Given the description of an element on the screen output the (x, y) to click on. 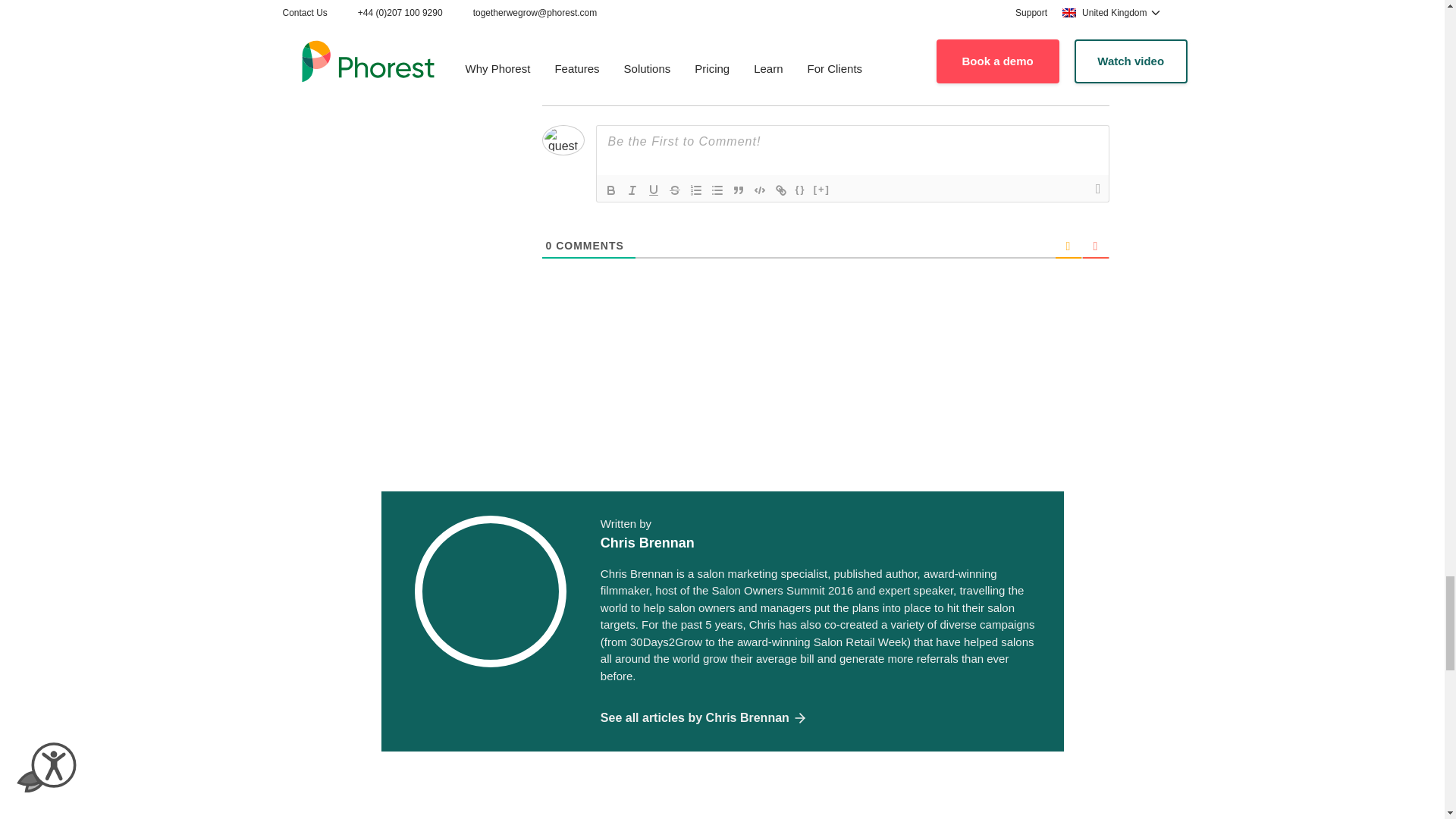
Strike (674, 189)
Spoiler (821, 189)
Source Code (800, 189)
Code Block (759, 189)
Ordered List (695, 189)
Blockquote (738, 189)
Underline (653, 189)
Bold (610, 189)
Unordered List (717, 189)
Link (781, 189)
Italic (632, 189)
